Given the description of an element on the screen output the (x, y) to click on. 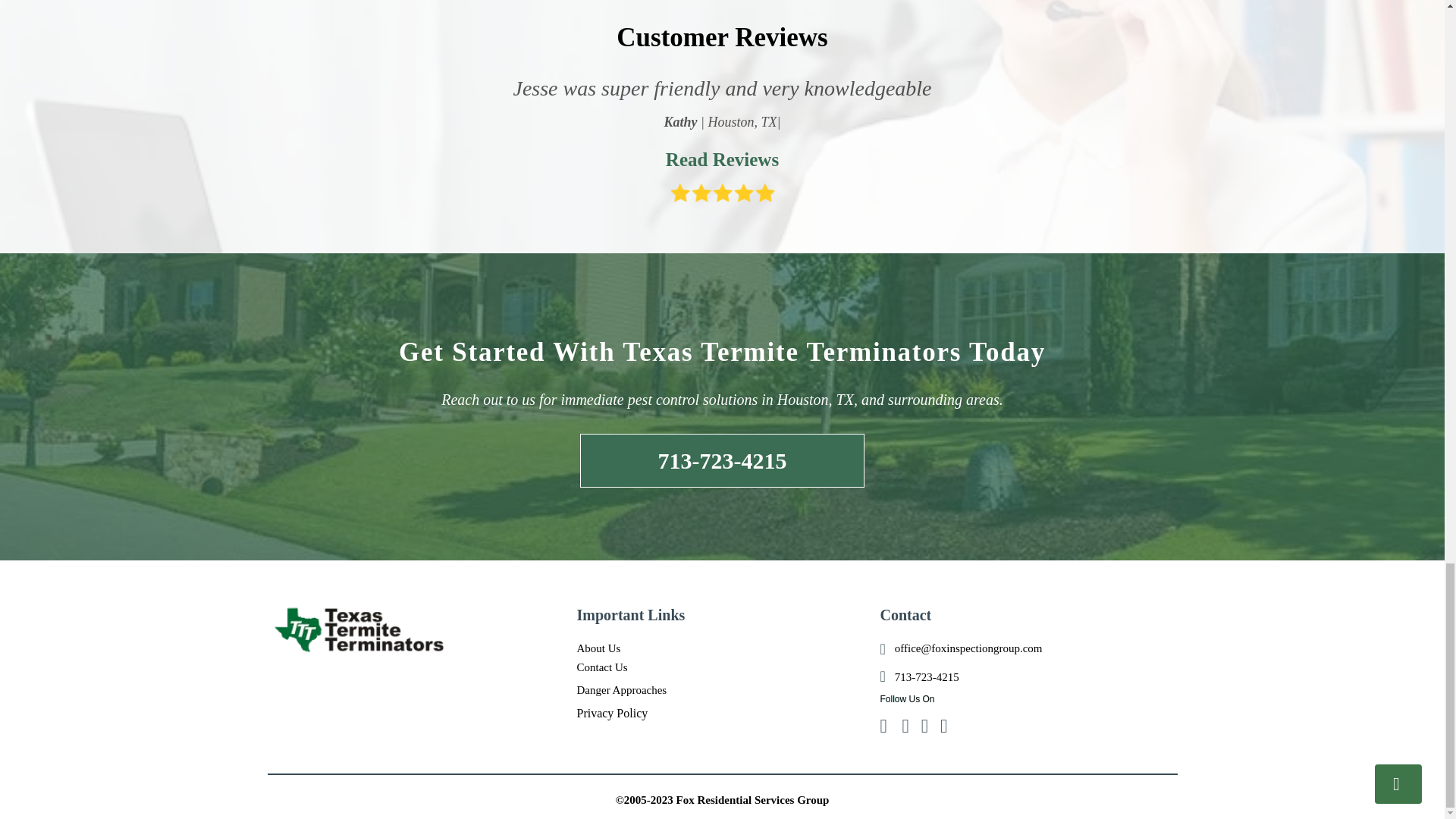
Read Reviews (721, 159)
713-723-4215 (721, 461)
